Given the description of an element on the screen output the (x, y) to click on. 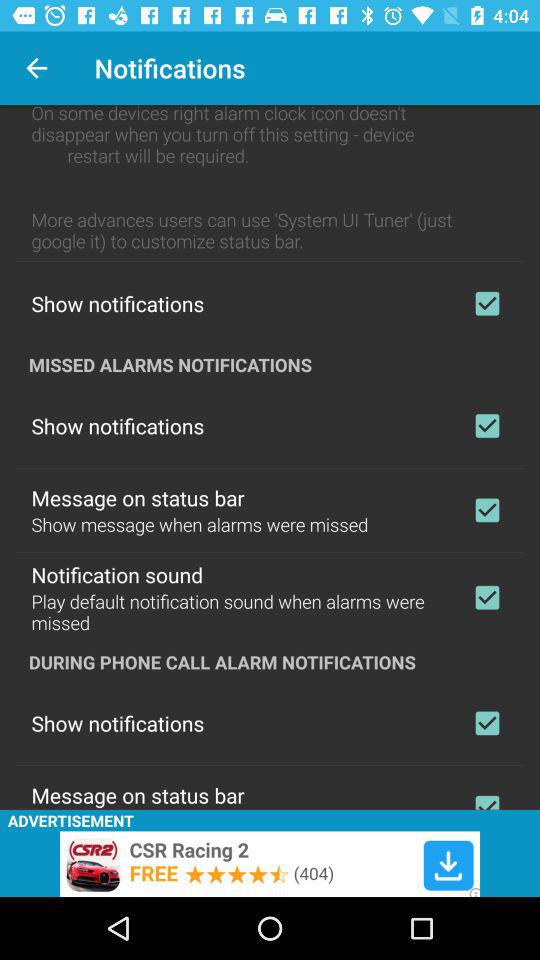
select option (487, 797)
